Given the description of an element on the screen output the (x, y) to click on. 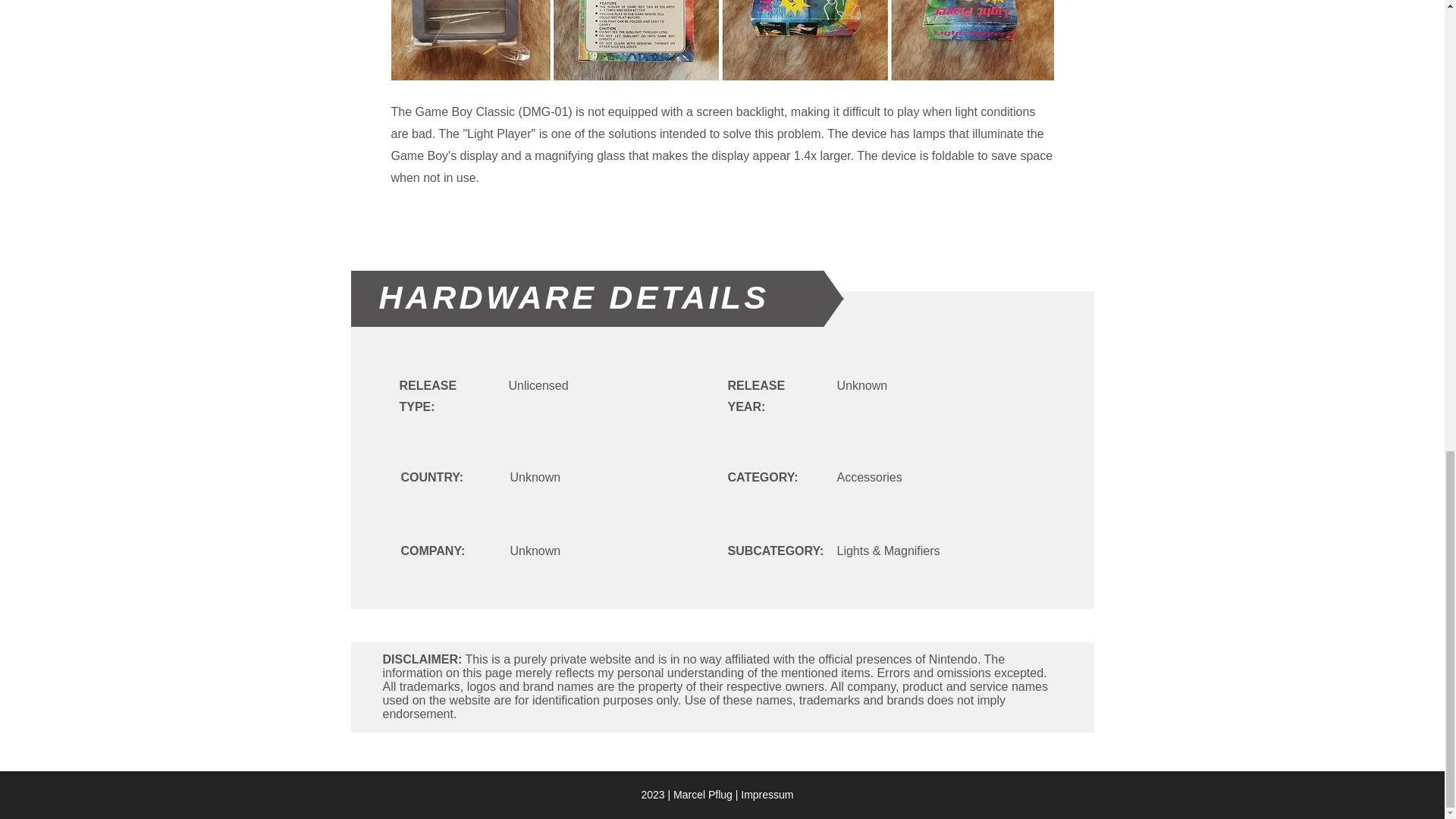
Unknown (722, 40)
